Given the description of an element on the screen output the (x, y) to click on. 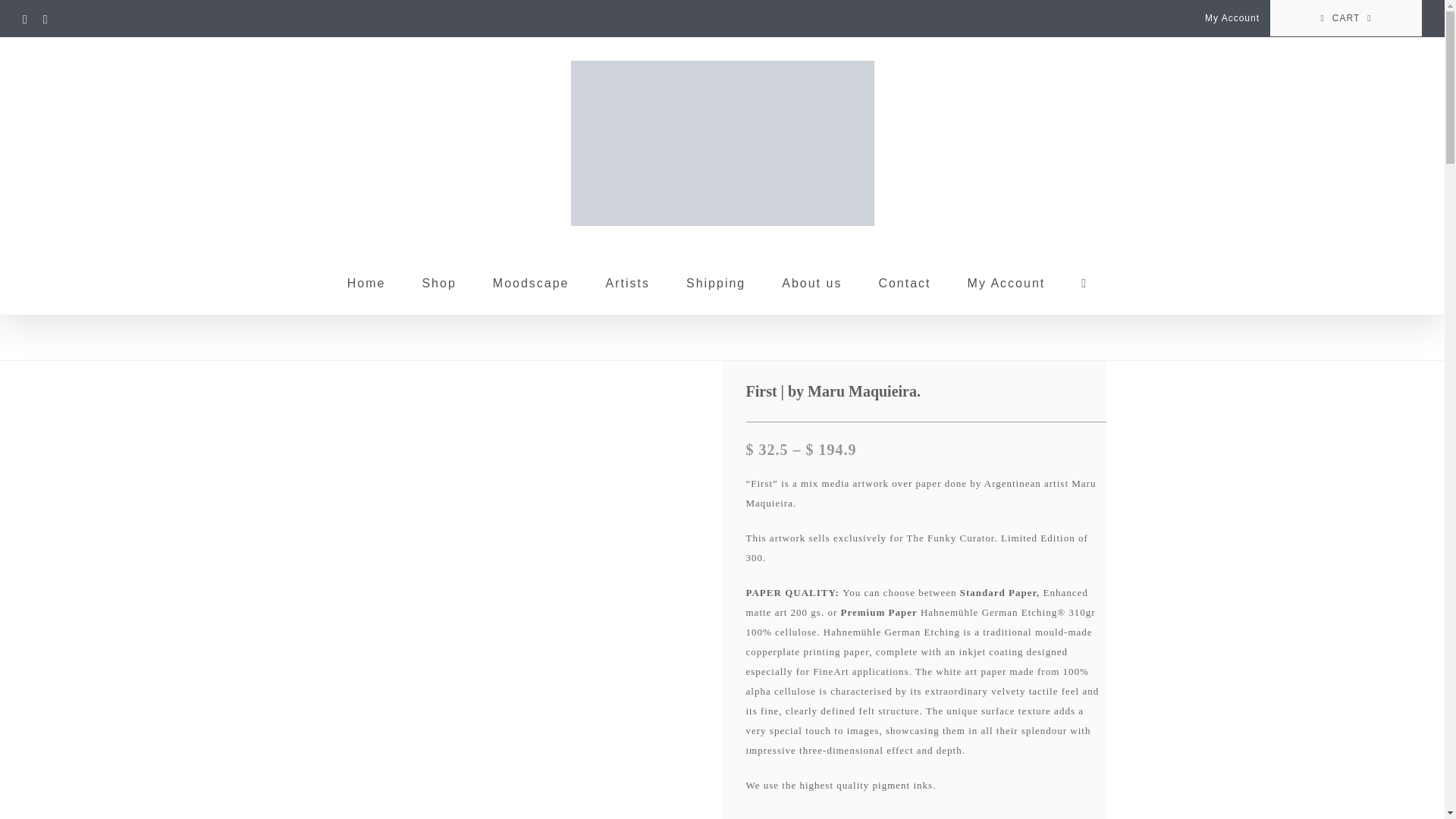
Moodscape (531, 281)
About us (811, 281)
My Account (1006, 281)
CART (1345, 18)
Log In (1064, 441)
Log In (1302, 164)
My Account (1232, 18)
Shipping (715, 281)
